Given the description of an element on the screen output the (x, y) to click on. 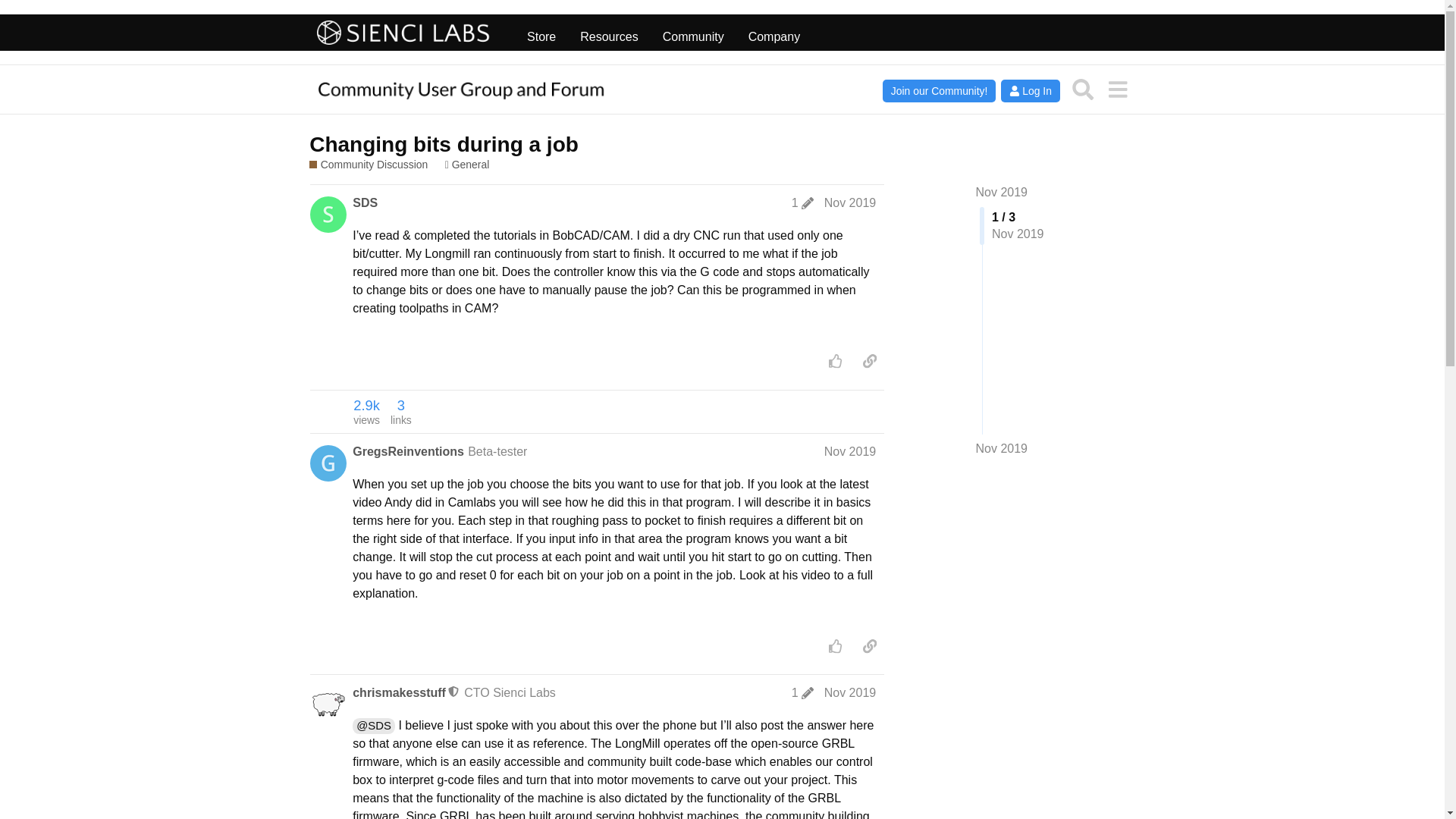
1 (802, 202)
Post date (850, 202)
GregsReinventions (408, 451)
Community (692, 32)
Jump to the last post (1001, 448)
Company (773, 32)
Nov 2019 (1001, 448)
Nov 2019 (850, 450)
